Given the description of an element on the screen output the (x, y) to click on. 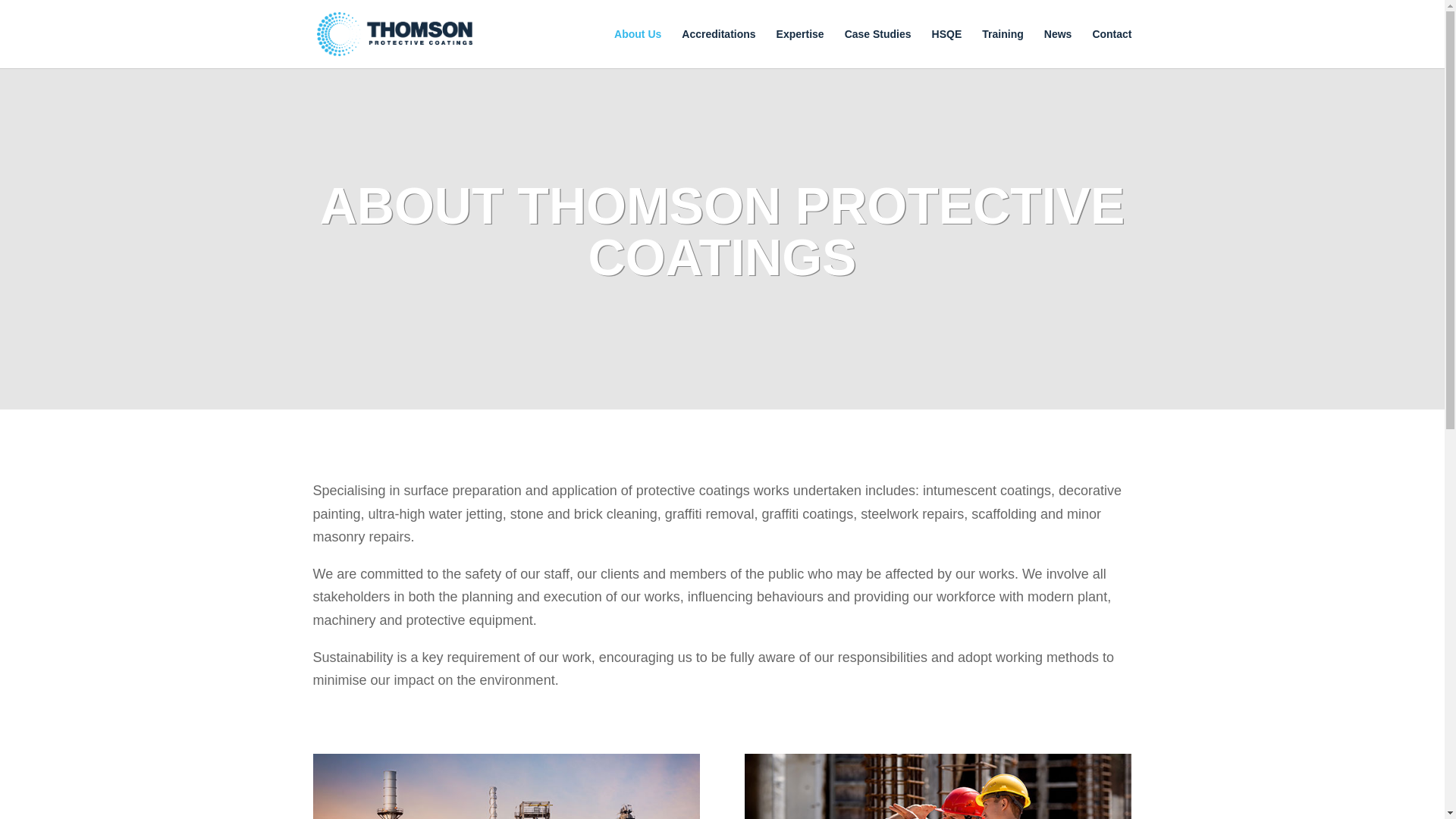
Expertise (800, 47)
About Us (637, 47)
Training (1002, 47)
Case Studies (877, 47)
Accreditations (718, 47)
Petro-Chemical (505, 786)
Contact (1111, 47)
PM (937, 786)
